Given the description of an element on the screen output the (x, y) to click on. 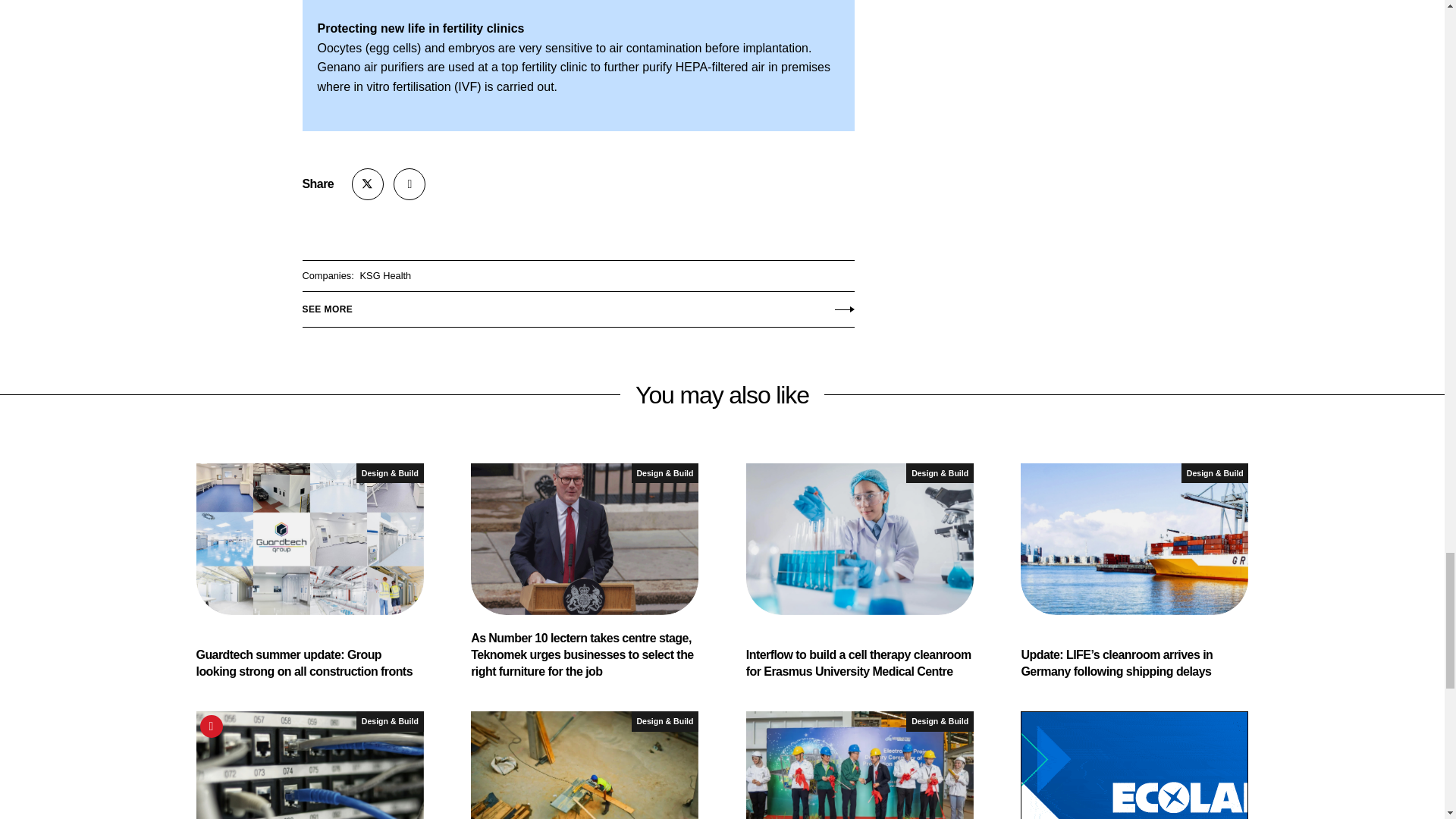
Follow Cleanroom Technology on LinkedIn (409, 183)
SEE MORE (577, 305)
Follow Cleanroom Technology on X (368, 183)
LinkedIn (409, 183)
X (368, 183)
